Given the description of an element on the screen output the (x, y) to click on. 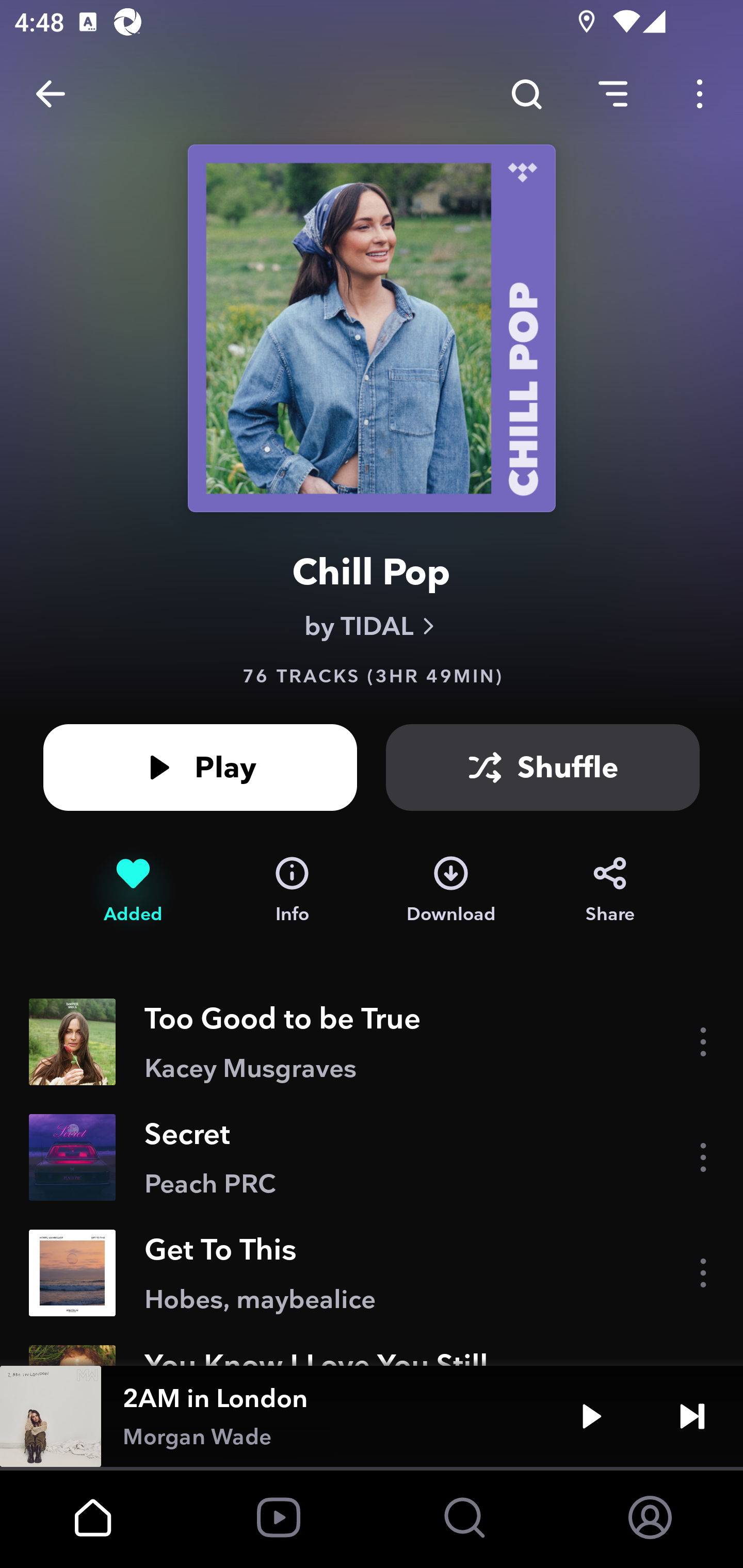
Back (50, 93)
Search (525, 93)
Sorting (612, 93)
Options (699, 93)
by TIDAL (371, 625)
Play (200, 767)
Shuffle (542, 767)
Added (132, 890)
Info (291, 890)
Download (450, 890)
Share (609, 890)
Too Good to be True Kacey Musgraves (371, 1041)
Secret Peach PRC (371, 1157)
Get To This Hobes, maybealice (371, 1273)
2AM in London Morgan Wade Play (371, 1416)
Play (590, 1416)
